Given the description of an element on the screen output the (x, y) to click on. 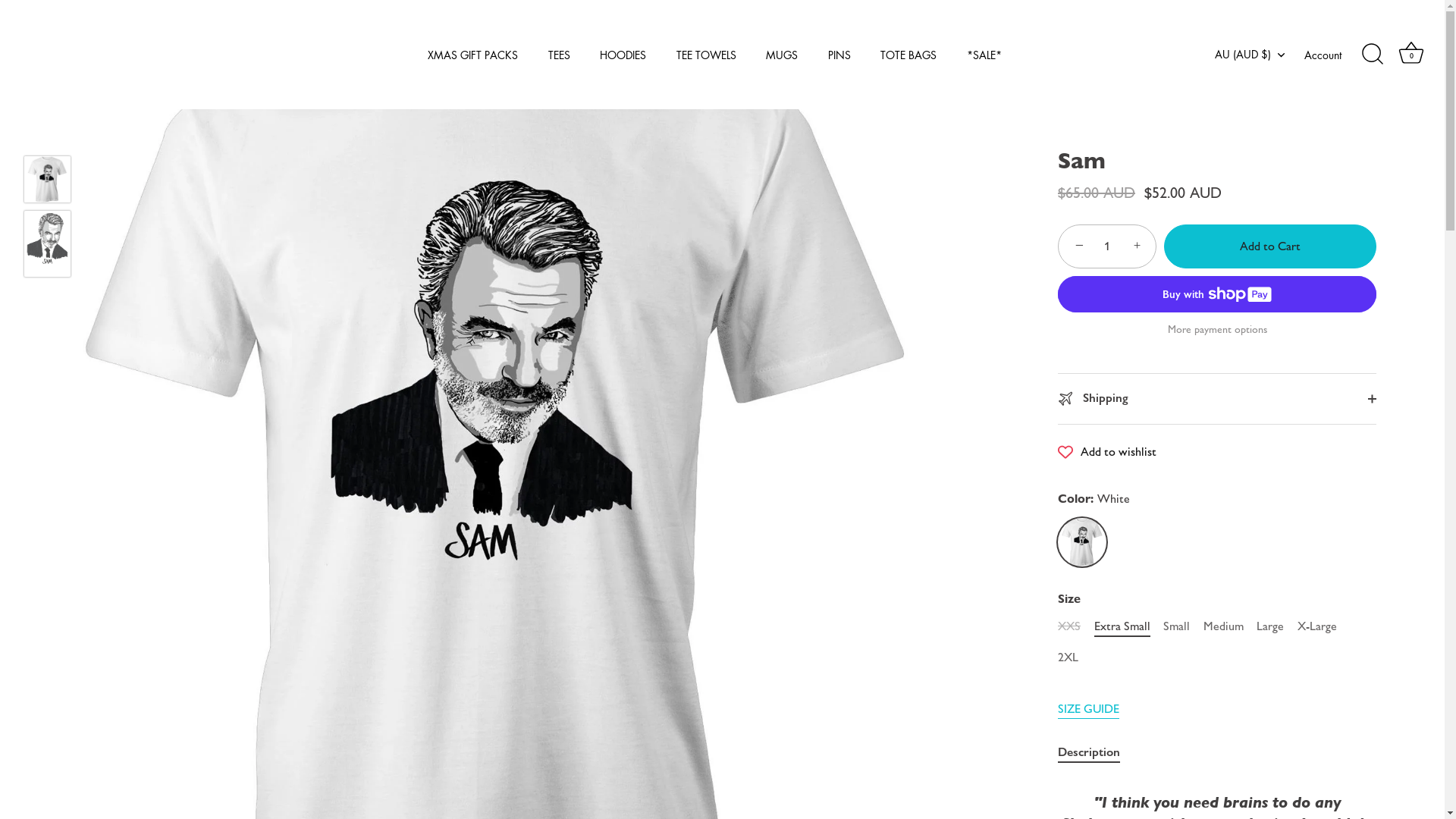
HOODIES Element type: text (622, 54)
Add to Cart Element type: text (1270, 246)
SIZE GUIDE Element type: text (1088, 708)
Basket
0 Element type: text (1410, 54)
2XL Element type: text (1067, 656)
TOTE BAGS Element type: text (908, 54)
XMAS GIFT PACKS Element type: text (472, 54)
White Element type: text (1081, 541)
X-Large Element type: text (1316, 625)
XXS Element type: text (1068, 625)
Account Element type: text (1336, 54)
Large Element type: text (1269, 625)
AU (AUD $) Element type: text (1257, 53)
*SALE* Element type: text (984, 54)
TEES Element type: text (558, 54)
TEE TOWELS Element type: text (705, 54)
Description Element type: text (1088, 751)
PINS Element type: text (839, 54)
Small Element type: text (1176, 625)
MUGS Element type: text (782, 54)
Extra Small Element type: text (1122, 625)
Medium Element type: text (1223, 625)
More payment options Element type: text (1216, 329)
+ Element type: text (1138, 245)
